Given the description of an element on the screen output the (x, y) to click on. 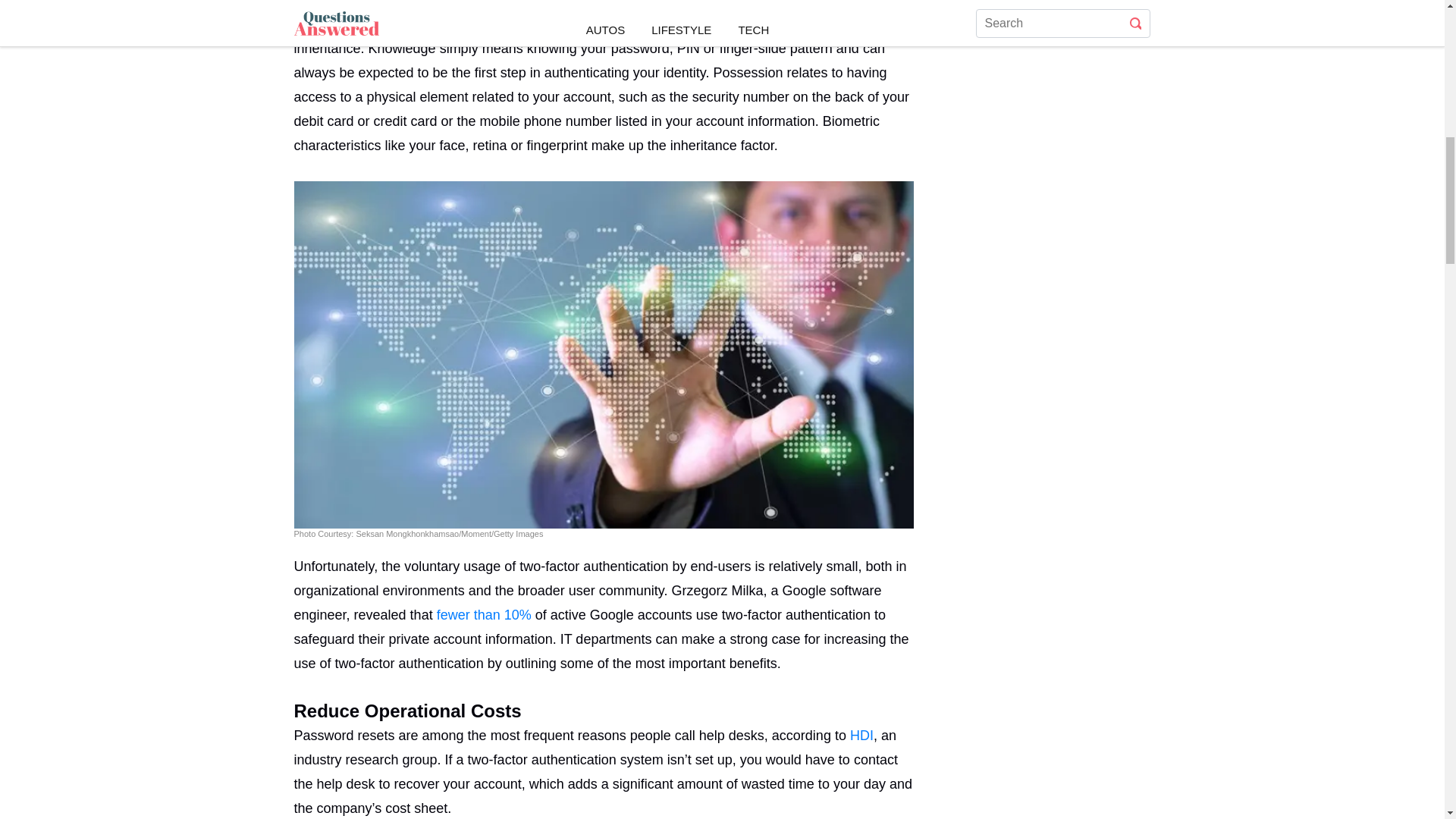
Reduce Operational Costs (604, 705)
HDI (861, 735)
